Given the description of an element on the screen output the (x, y) to click on. 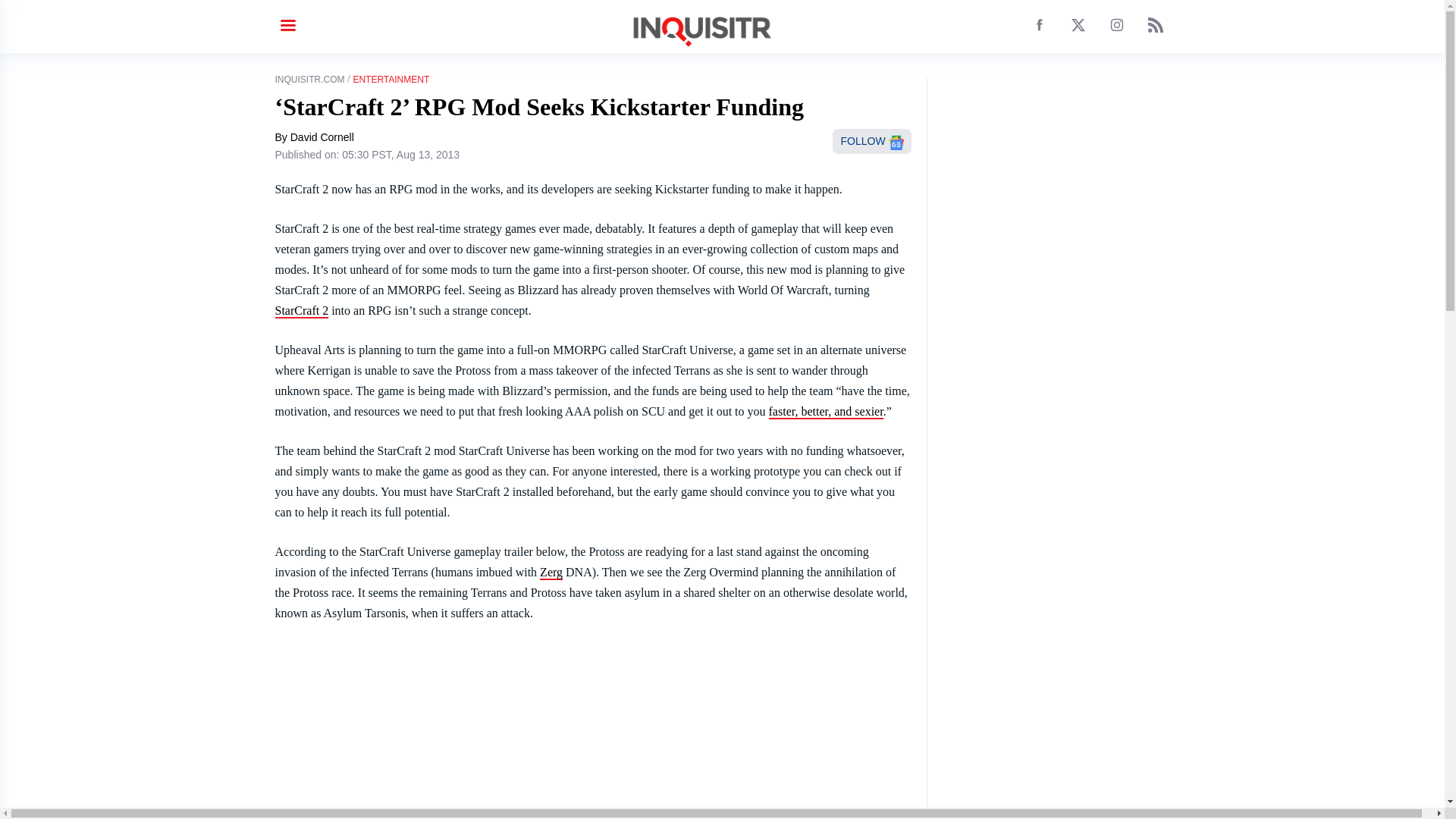
ENTERTAINMENT (390, 79)
INQUISITR.COM (309, 79)
Starcraft 2 Not Included In MLG Columbus (302, 310)
Shacknews (825, 411)
